Given the description of an element on the screen output the (x, y) to click on. 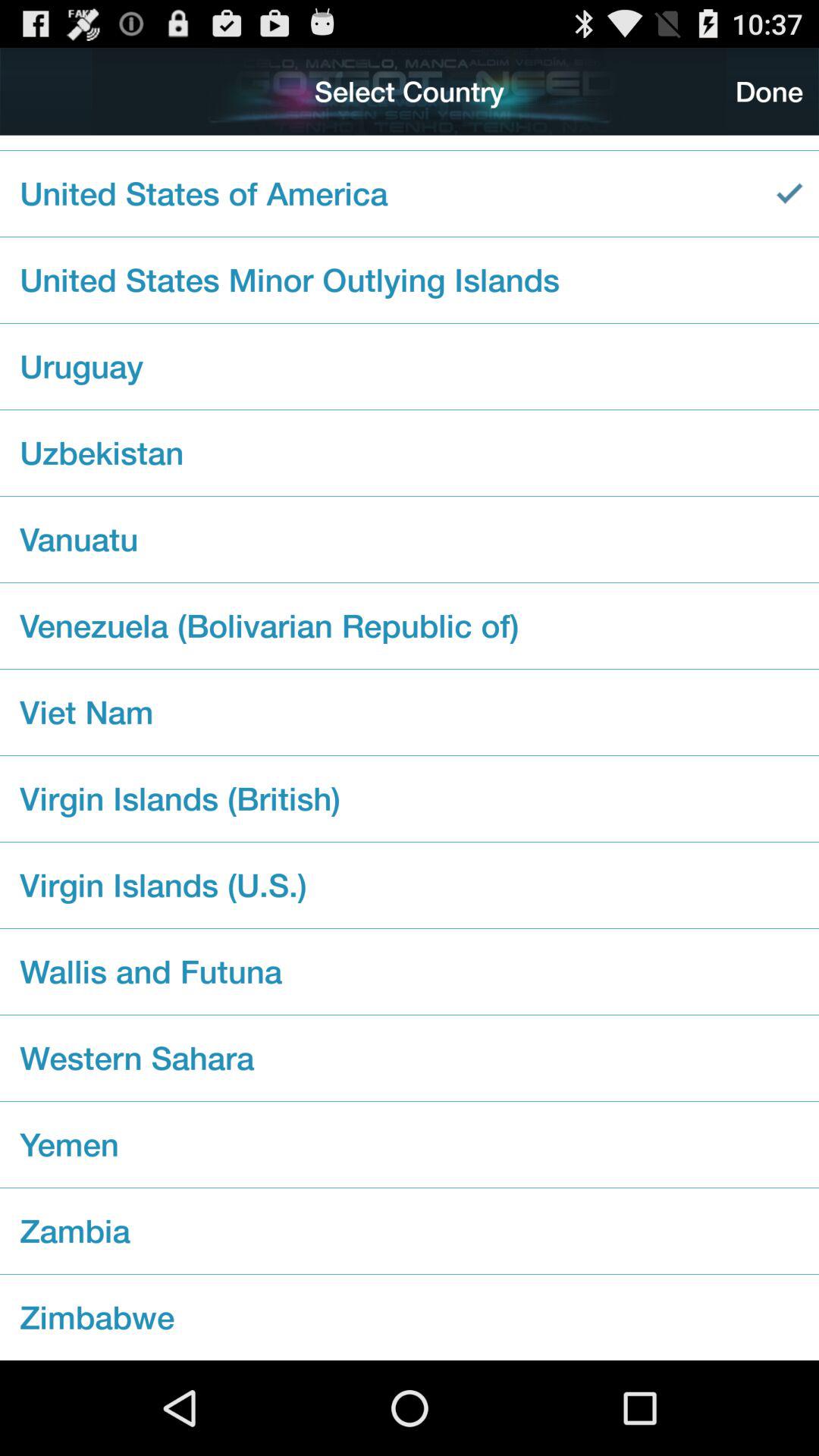
press western sahara icon (409, 1058)
